Given the description of an element on the screen output the (x, y) to click on. 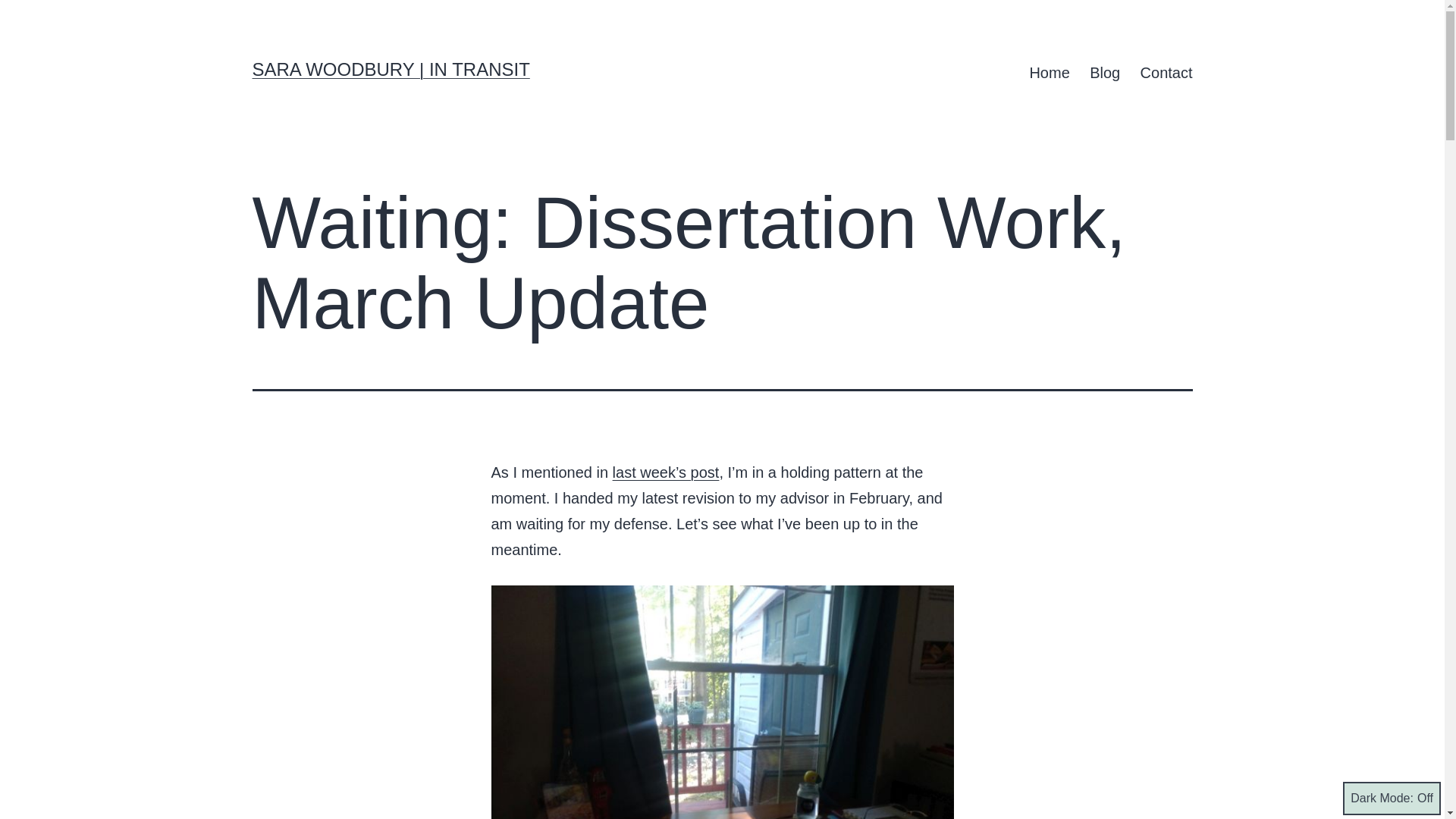
Contact (1165, 72)
Blog (1104, 72)
Home (1049, 72)
Dark Mode: (1391, 798)
